Given the description of an element on the screen output the (x, y) to click on. 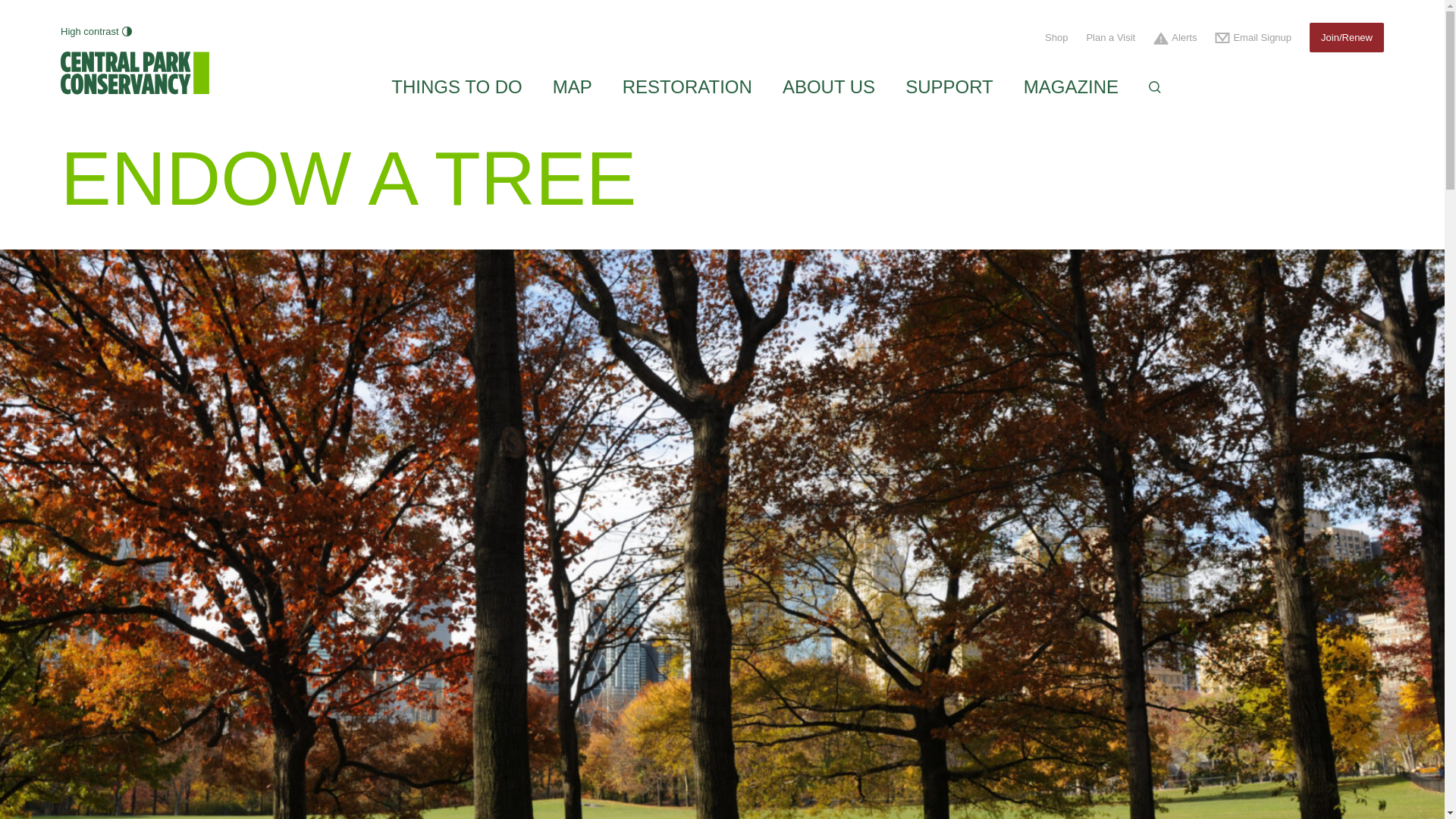
Email Signup (1252, 37)
Shop (1056, 37)
Plan a Visit (1110, 37)
RESTORATION (687, 86)
THINGS TO DO (456, 86)
Alerts (1174, 37)
High contrast (96, 31)
SEARCH (1154, 85)
MAGAZINE (1070, 86)
SUPPORT (948, 86)
MAP (572, 86)
ABOUT US (829, 86)
